Given the description of an element on the screen output the (x, y) to click on. 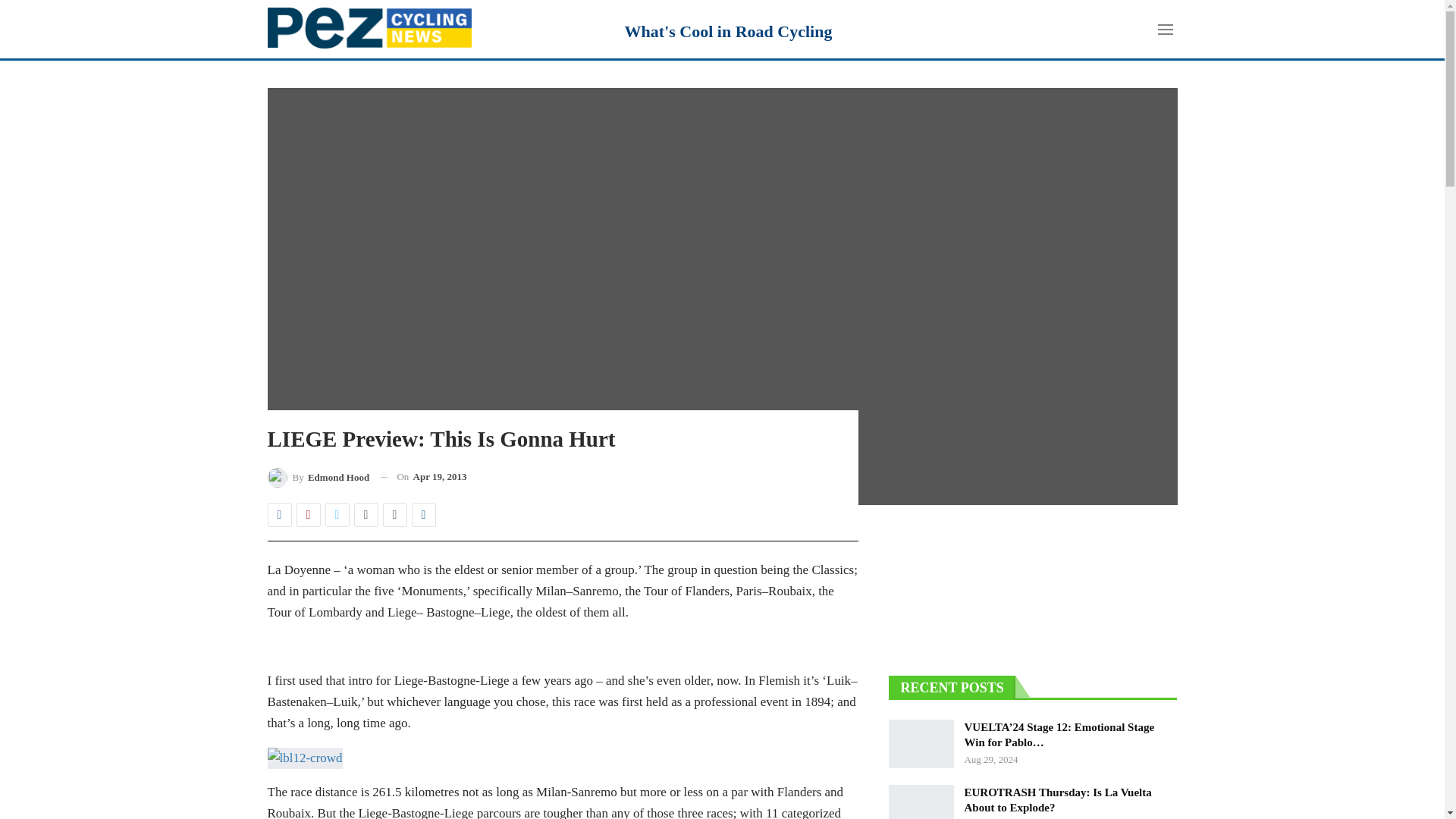
By Edmond Hood (317, 476)
Browse Author Articles (317, 476)
